Given the description of an element on the screen output the (x, y) to click on. 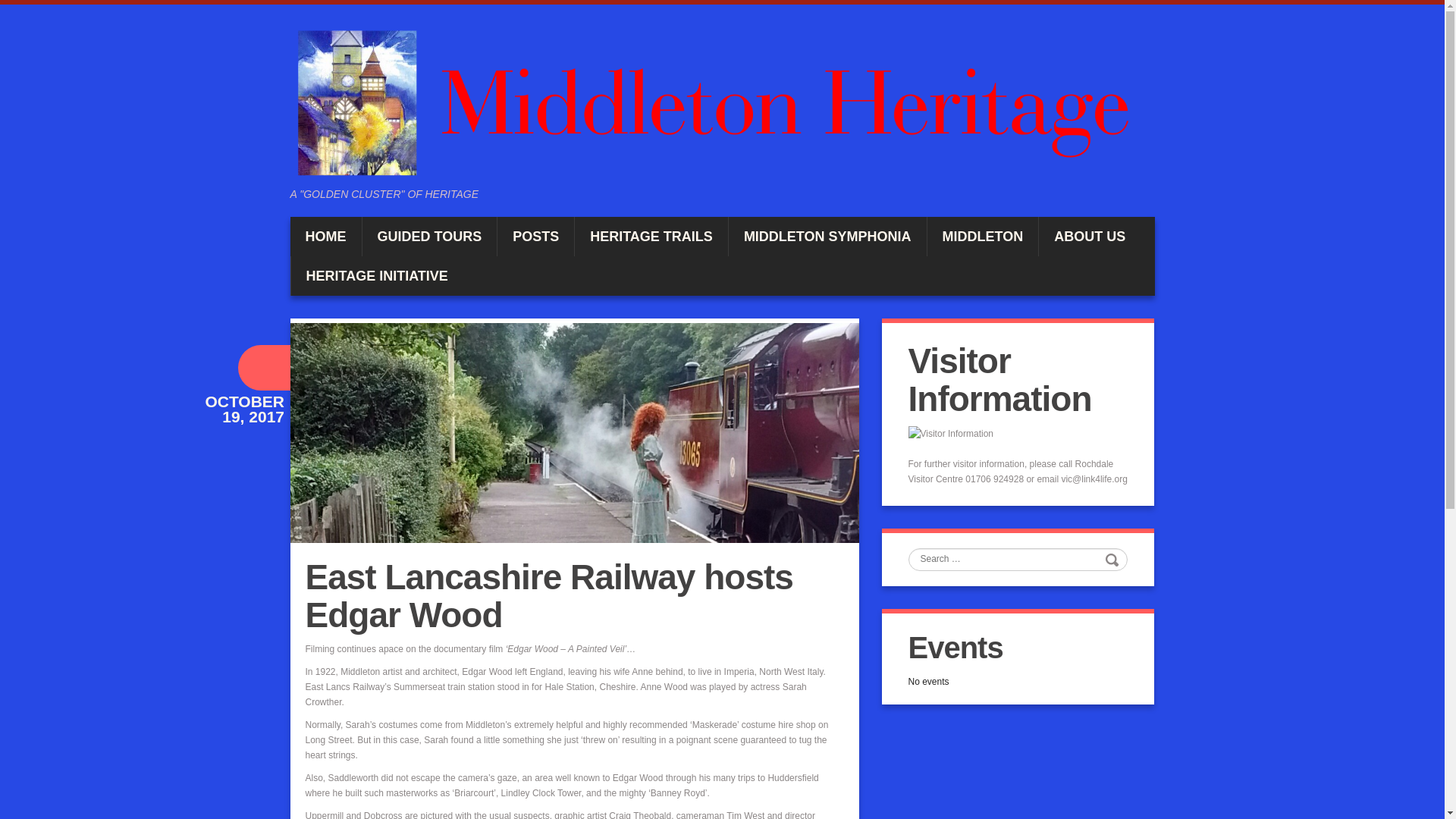
Middleton Heritage (721, 102)
HOME (325, 236)
HERITAGE TRAILS (651, 236)
MIDDLETON (983, 236)
POSTS (535, 236)
HERITAGE INITIATIVE (377, 275)
Search (1113, 558)
GUIDED TOURS (429, 236)
MIDDLETON SYMPHONIA (827, 236)
ABOUT US (1089, 236)
Search (1113, 558)
